Given the description of an element on the screen output the (x, y) to click on. 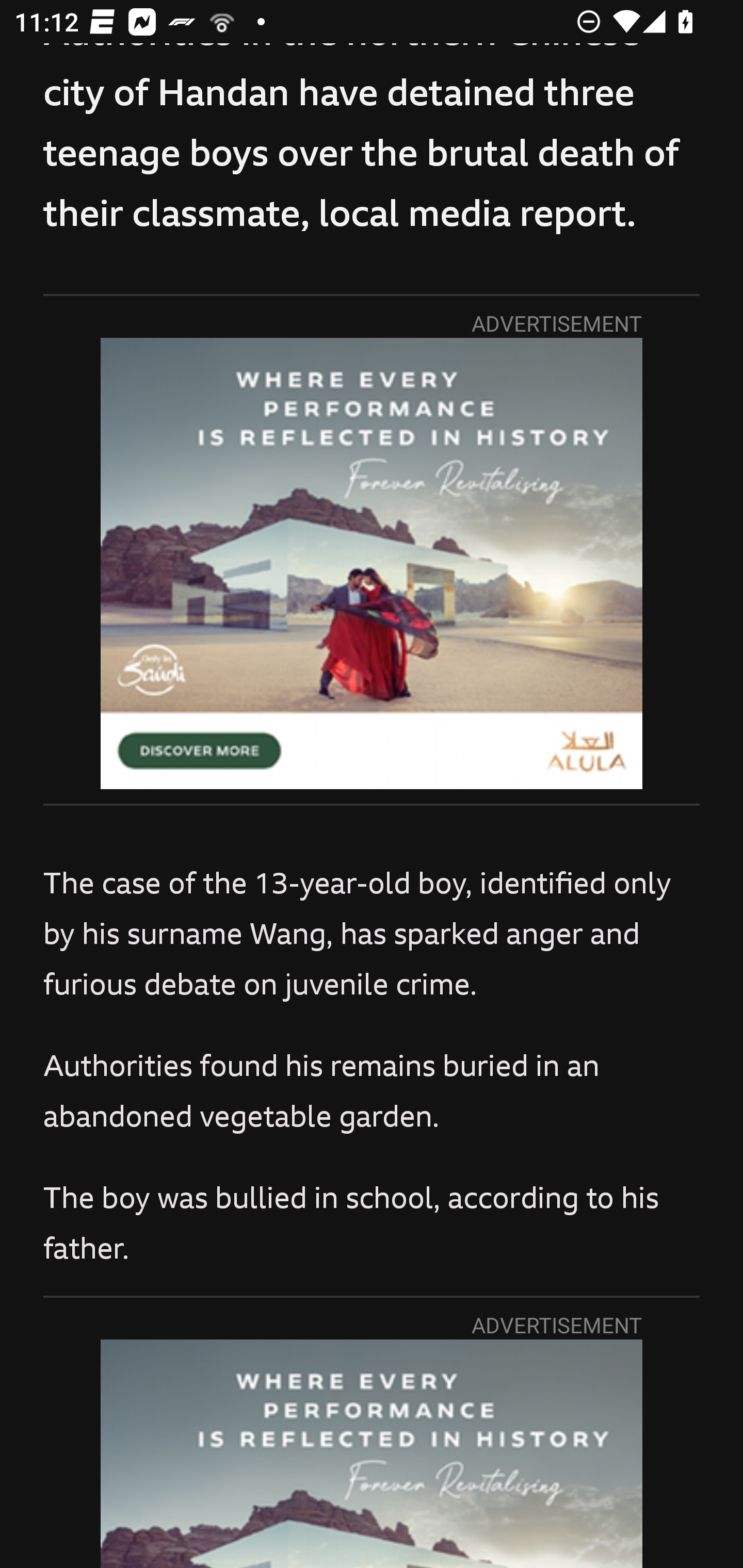
forever-revitalising (371, 563)
forever-revitalising (371, 1453)
